Given the description of an element on the screen output the (x, y) to click on. 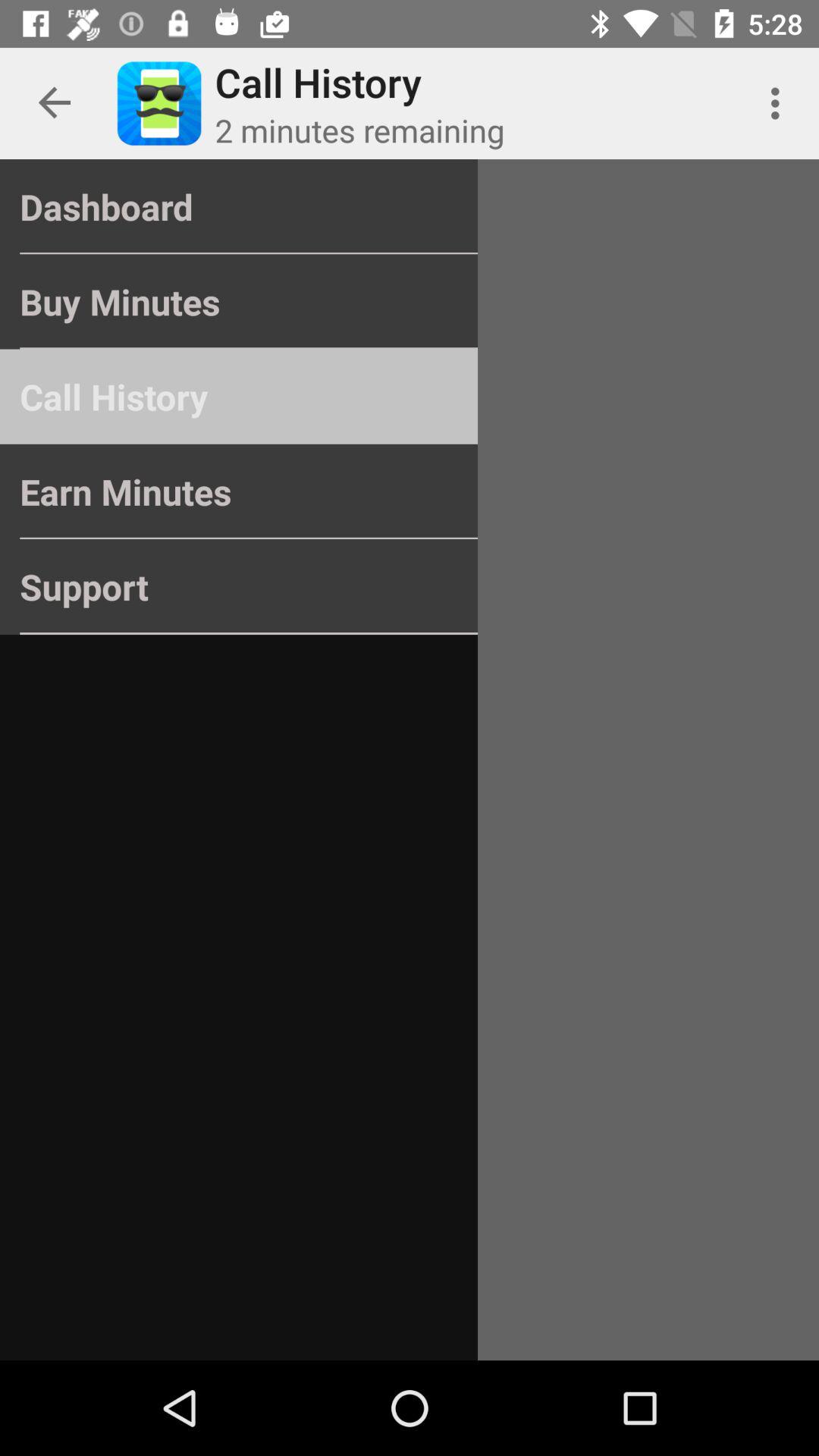
select the app to the right of 2 minutes remaining app (779, 103)
